Given the description of an element on the screen output the (x, y) to click on. 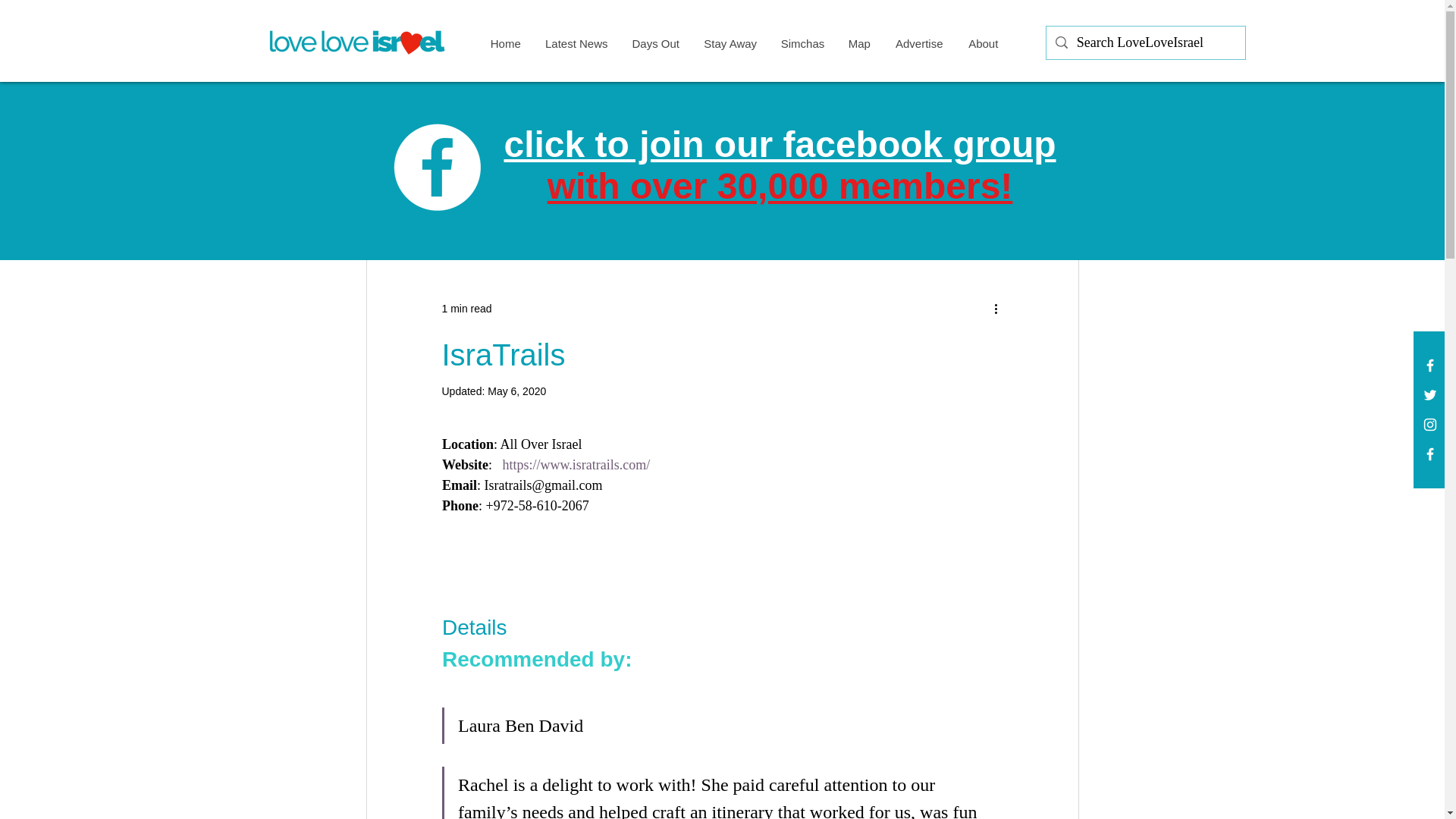
Home (504, 43)
Stay Away (729, 43)
Simchas (801, 43)
May 6, 2020 (516, 390)
Advertise (918, 43)
About (982, 43)
1 min read (466, 307)
Days Out (655, 43)
Latest News (779, 165)
